Given the description of an element on the screen output the (x, y) to click on. 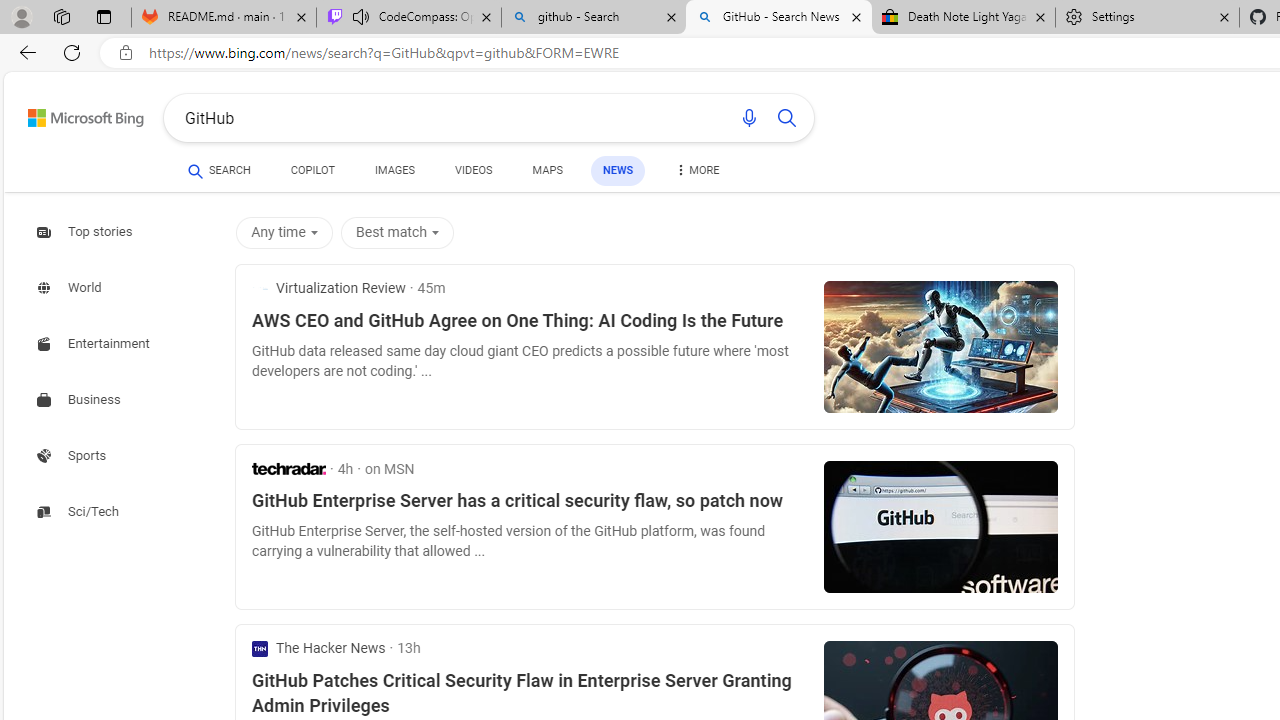
Mute tab (360, 16)
MAPS (546, 170)
Best match (397, 232)
SEARCH (219, 170)
Search news from Virtualization Review (328, 288)
NEWS (618, 170)
COPILOT (311, 170)
NEWS (618, 170)
Search news from The Hacker News (319, 648)
